Given the description of an element on the screen output the (x, y) to click on. 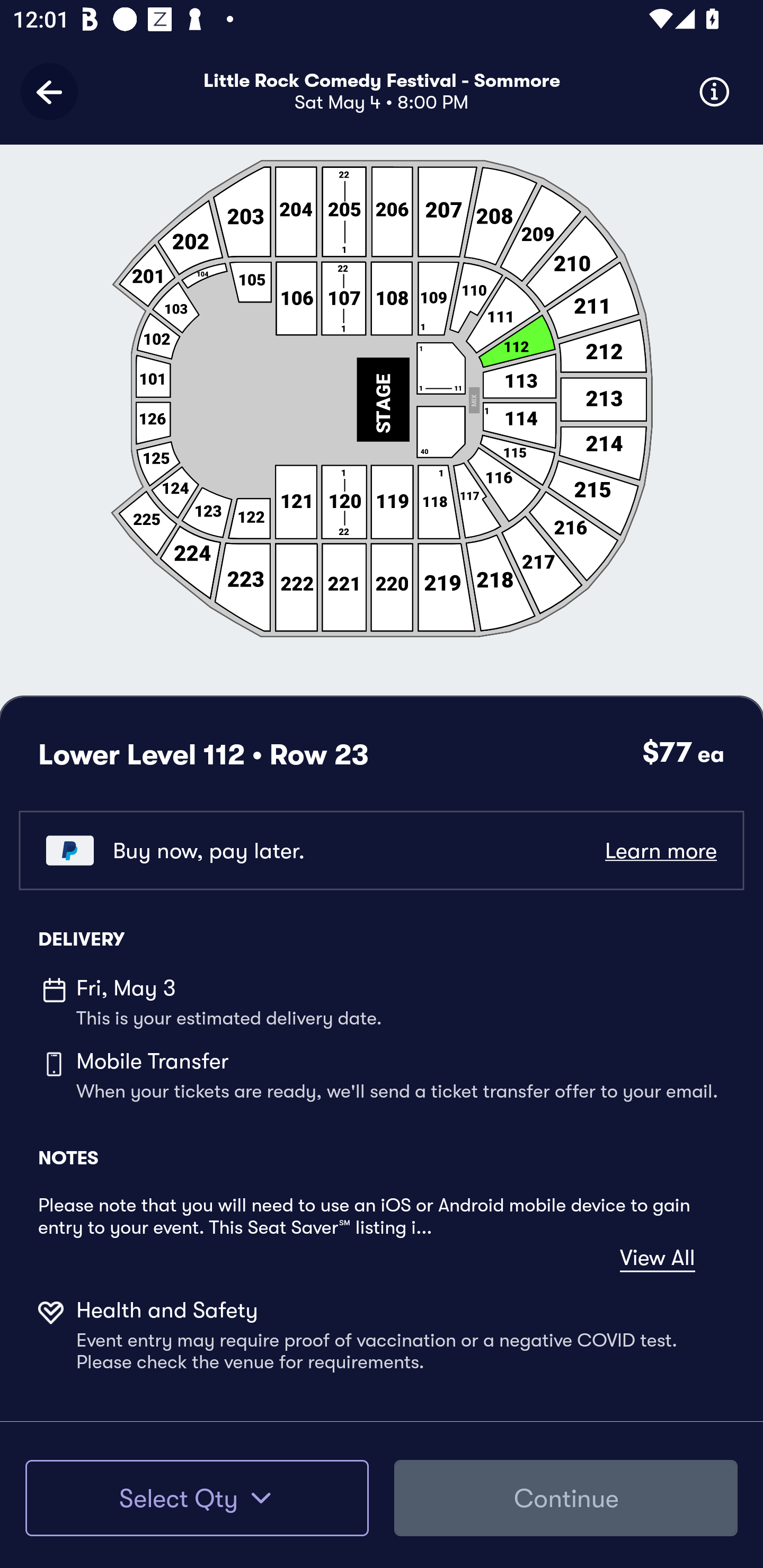
Learn more (660, 850)
View All (657, 1257)
Select Qty (196, 1497)
Continue (565, 1497)
